Given the description of an element on the screen output the (x, y) to click on. 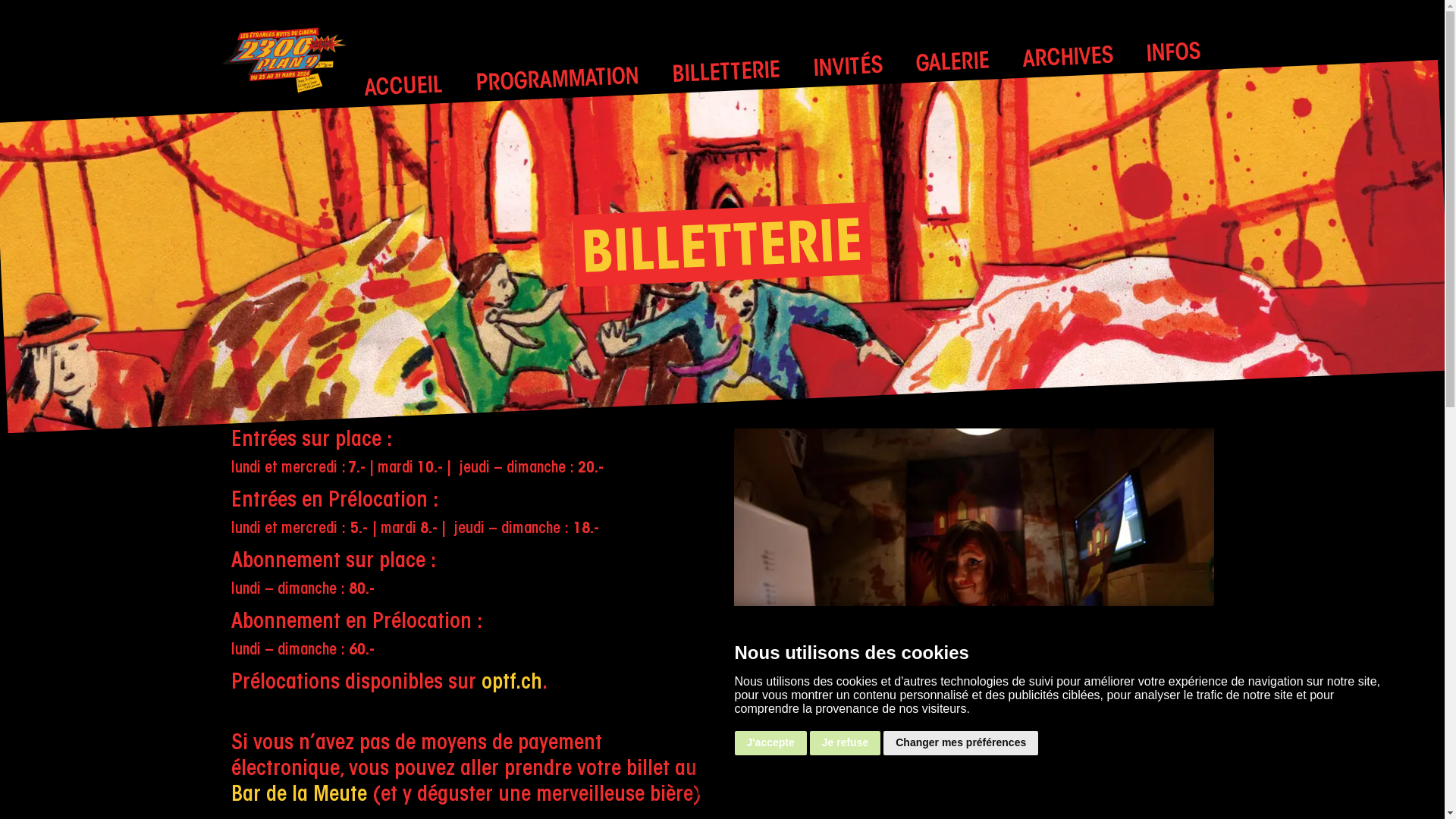
Bar de la Meute Element type: text (298, 795)
PROGRAMMATION Element type: text (556, 77)
optf.ch Element type: text (510, 682)
BILLETTERIE Element type: text (725, 71)
INFOS Element type: text (1172, 53)
ARCHIVES Element type: text (1067, 57)
Je refuse Element type: text (844, 743)
J'accepte Element type: text (770, 743)
_DSC3694 Element type: hover (974, 587)
ACCUEIL Element type: text (403, 86)
GALERIE Element type: text (951, 62)
